Given the description of an element on the screen output the (x, y) to click on. 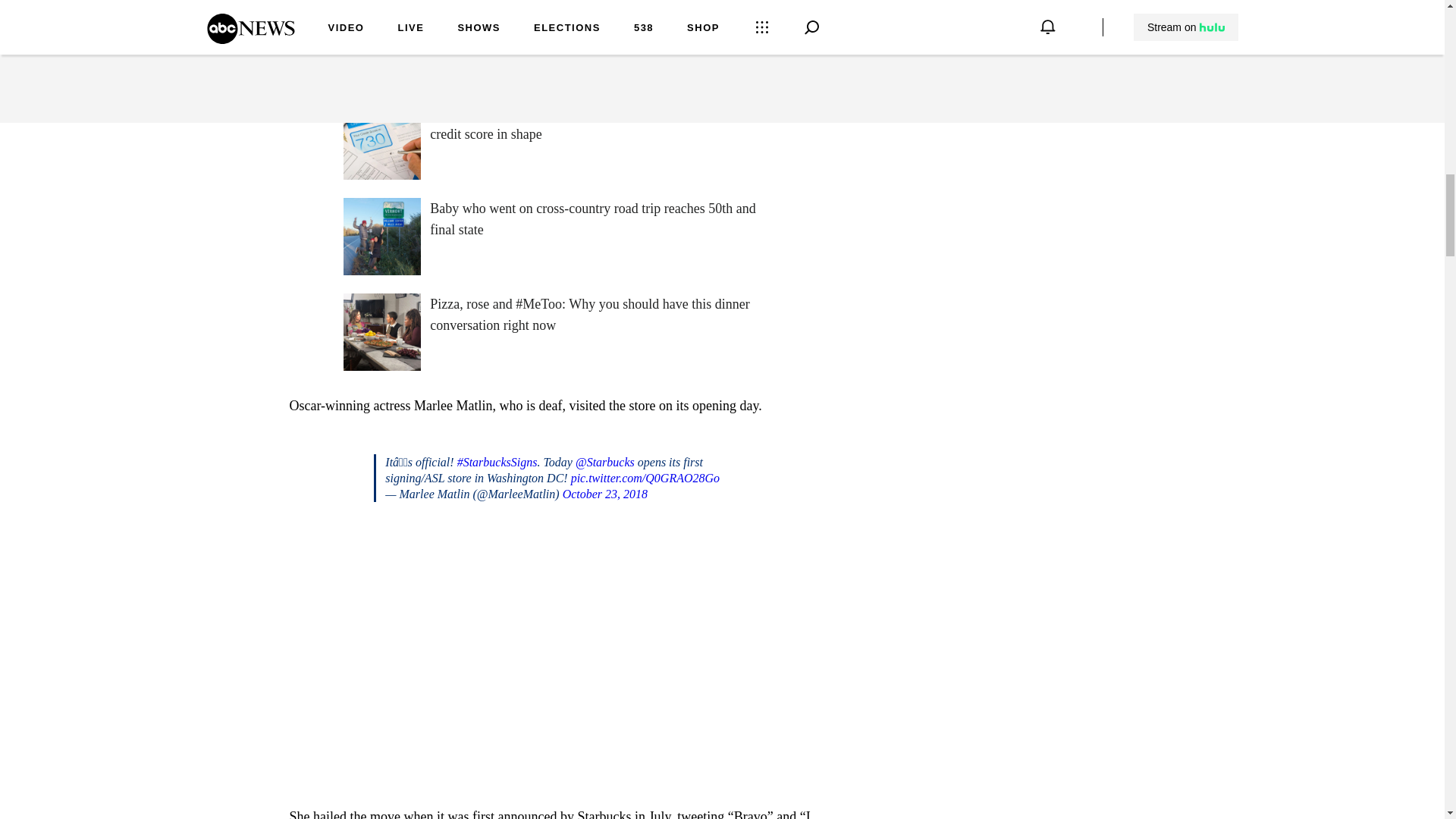
October 23, 2018 (604, 493)
